Given the description of an element on the screen output the (x, y) to click on. 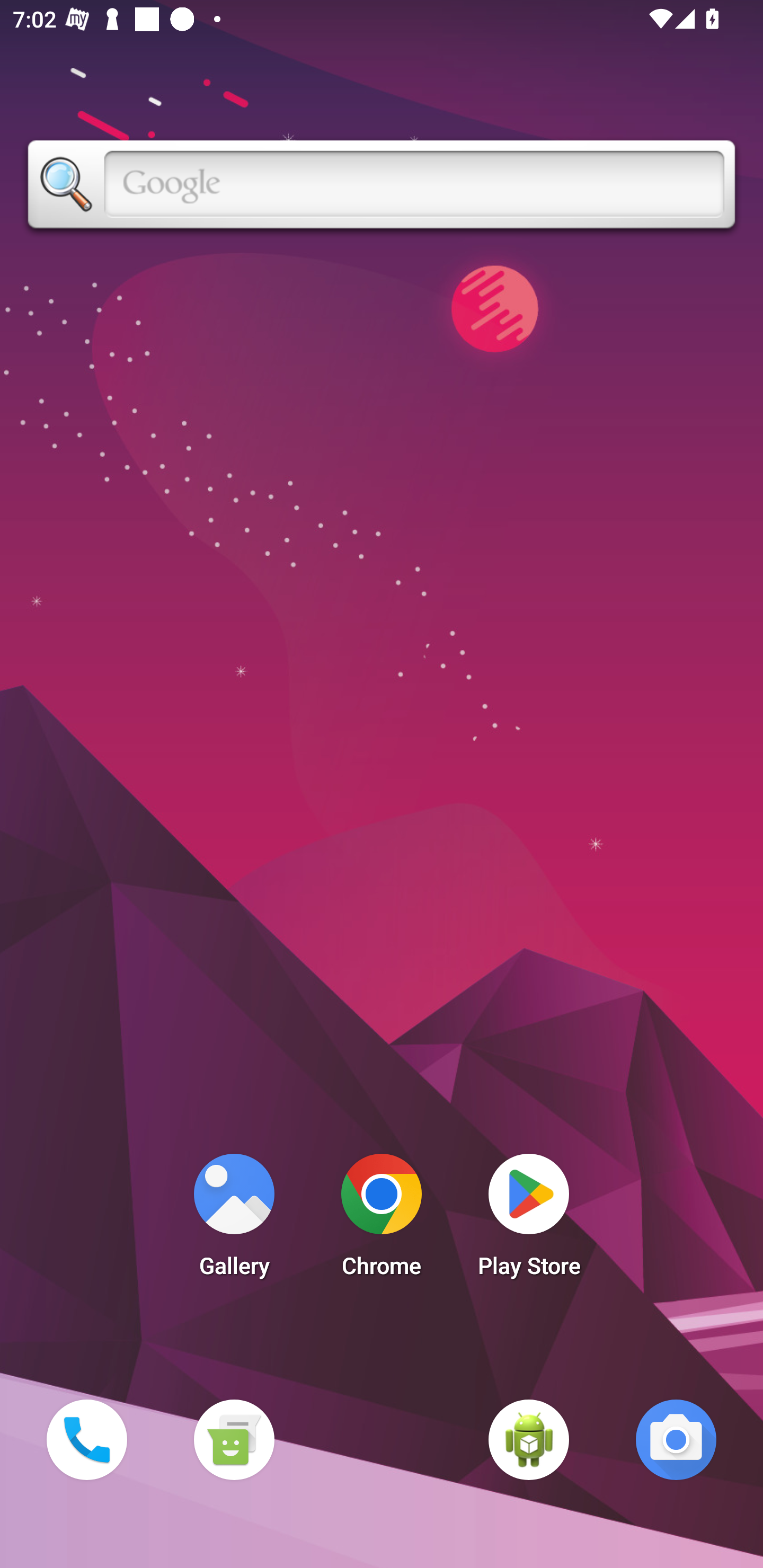
Gallery (233, 1220)
Chrome (381, 1220)
Play Store (528, 1220)
Phone (86, 1439)
Messaging (233, 1439)
WebView Browser Tester (528, 1439)
Camera (676, 1439)
